Given the description of an element on the screen output the (x, y) to click on. 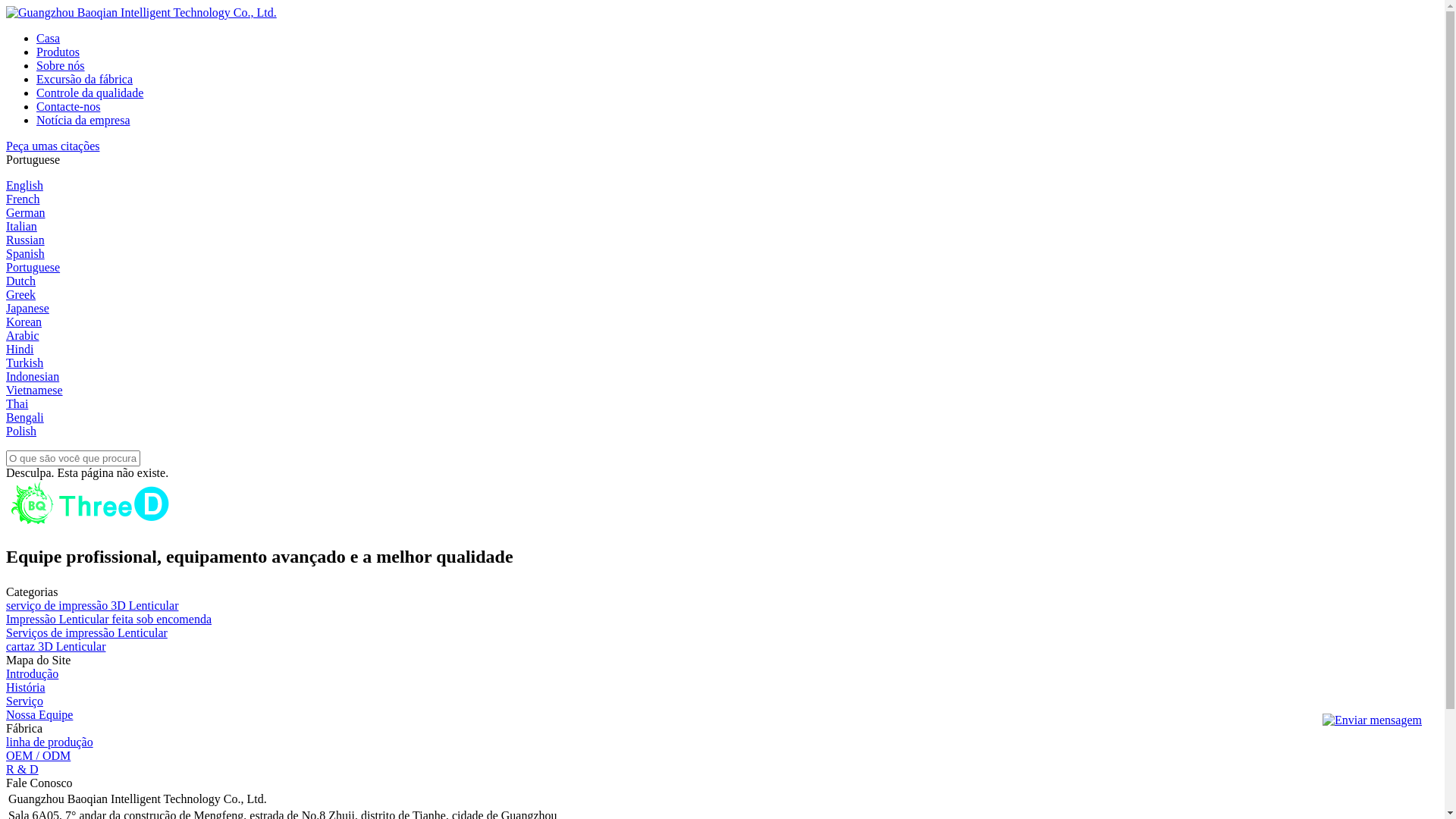
Spanish Element type: text (25, 253)
OEM / ODM Element type: text (38, 755)
Portuguese Element type: text (32, 266)
Italian Element type: text (21, 225)
Bengali Element type: text (24, 417)
Russian Element type: text (25, 239)
Korean Element type: text (23, 321)
German Element type: text (25, 212)
Guangzhou Baoqian Intelligent Technology Co., Ltd. Element type: hover (141, 12)
French Element type: text (22, 198)
R & D Element type: text (22, 768)
Polish Element type: text (21, 430)
Thai Element type: text (17, 403)
Contacte-nos Element type: text (68, 106)
Dutch Element type: text (20, 280)
cartaz 3D Lenticular Element type: text (55, 646)
Casa Element type: text (47, 37)
Indonesian Element type: text (32, 376)
Vietnamese Element type: text (34, 389)
Hindi Element type: text (19, 348)
Nossa Equipe Element type: text (39, 714)
Arabic Element type: text (22, 335)
Japanese Element type: text (27, 307)
Greek Element type: text (20, 294)
Controle da qualidade Element type: text (89, 92)
Search Element type: text (21, 7)
English Element type: text (24, 184)
Produtos Element type: text (57, 51)
Turkish Element type: text (24, 362)
